Given the description of an element on the screen output the (x, y) to click on. 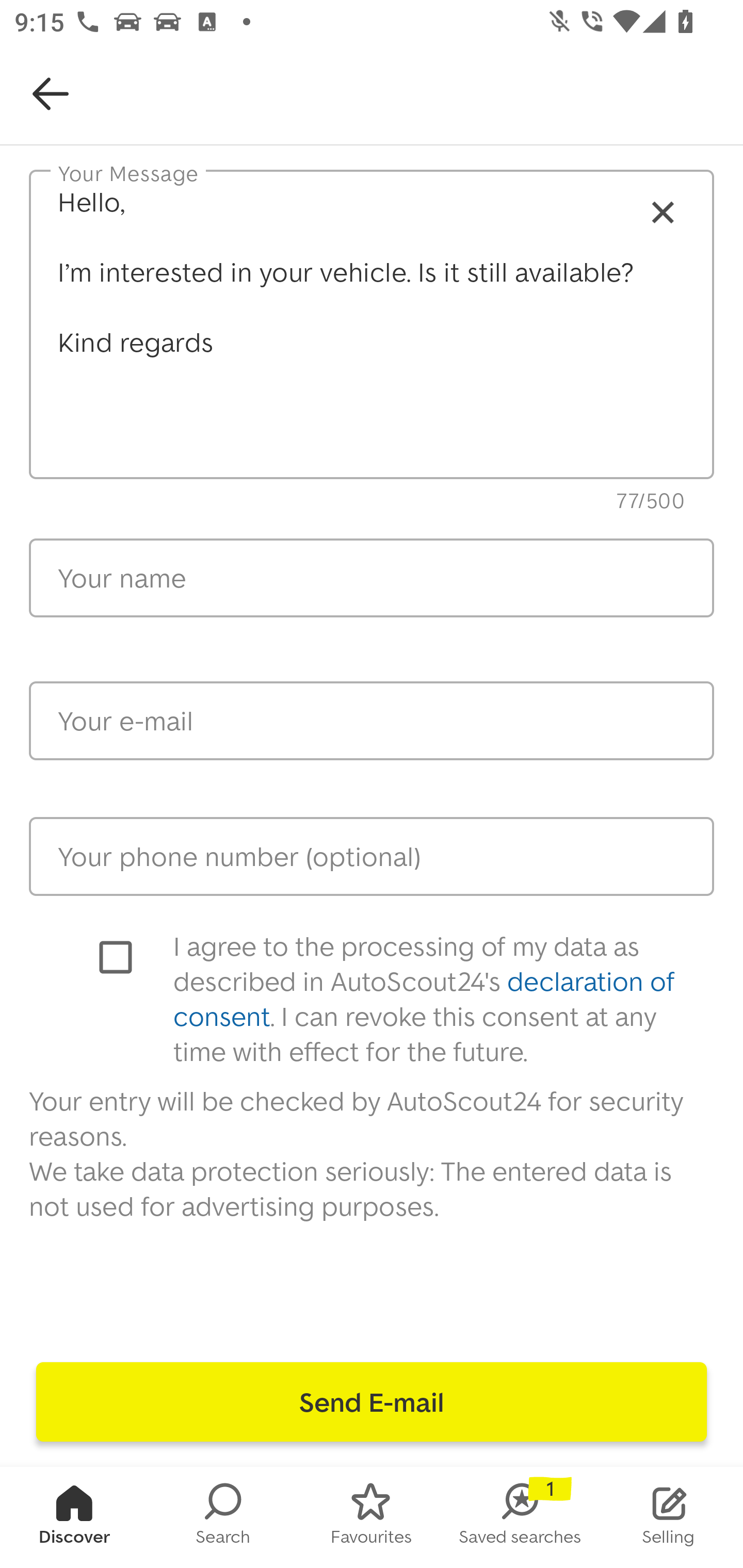
Navigate up (50, 93)
Your name (371, 577)
Your e-mail (371, 721)
Your phone number (optional) (371, 855)
Send E-mail (371, 1401)
HOMESCREEN Discover (74, 1517)
SEARCH Search (222, 1517)
FAVORITES Favourites (371, 1517)
SAVED_SEARCHES Saved searches 1 (519, 1517)
STOCK_LIST Selling (668, 1517)
